Given the description of an element on the screen output the (x, y) to click on. 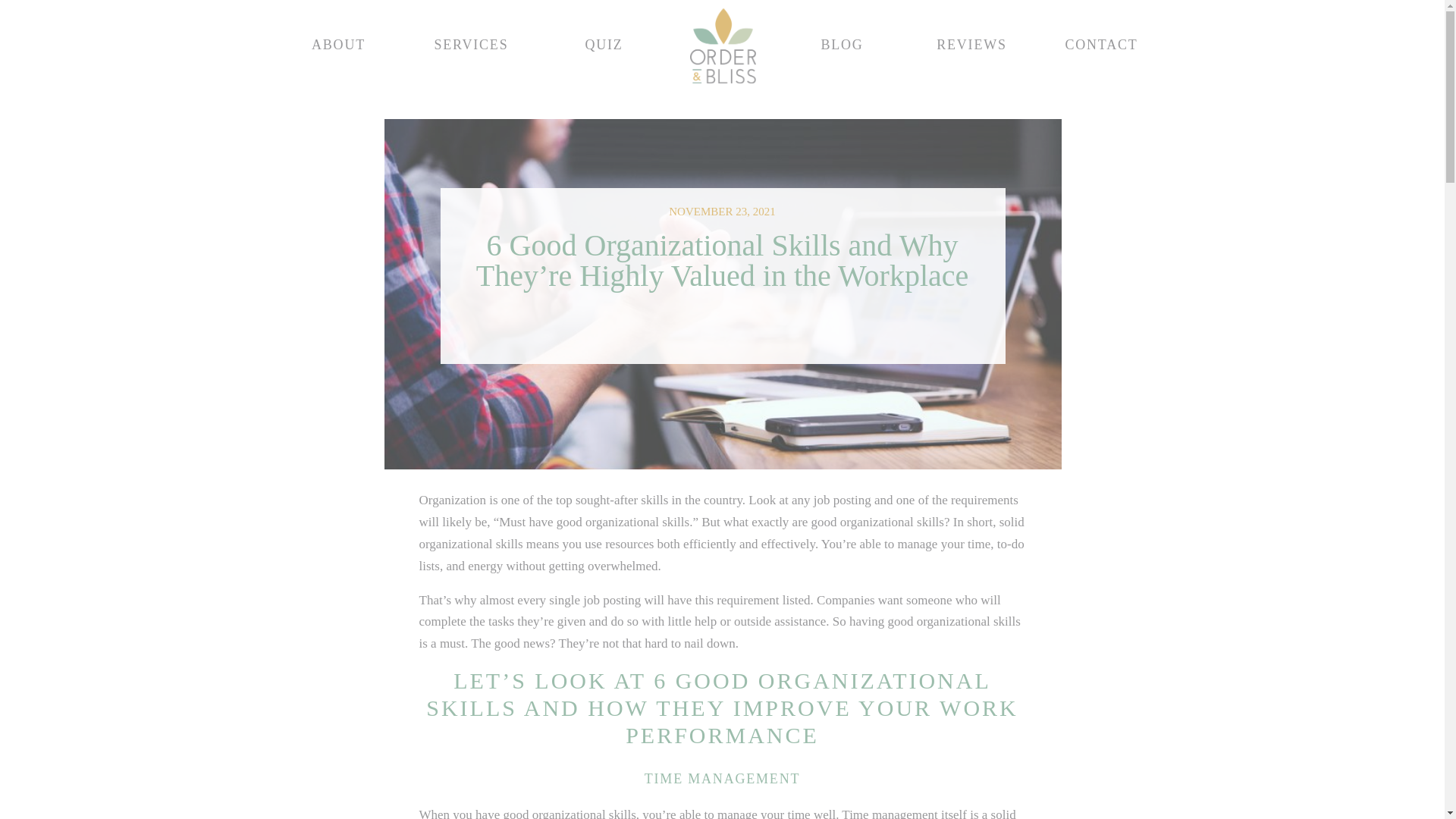
QUIZ (603, 45)
ABOUT (338, 45)
SERVICES (471, 45)
REVIEWS (971, 45)
BLOG (841, 45)
CONTACT (1101, 45)
